Given the description of an element on the screen output the (x, y) to click on. 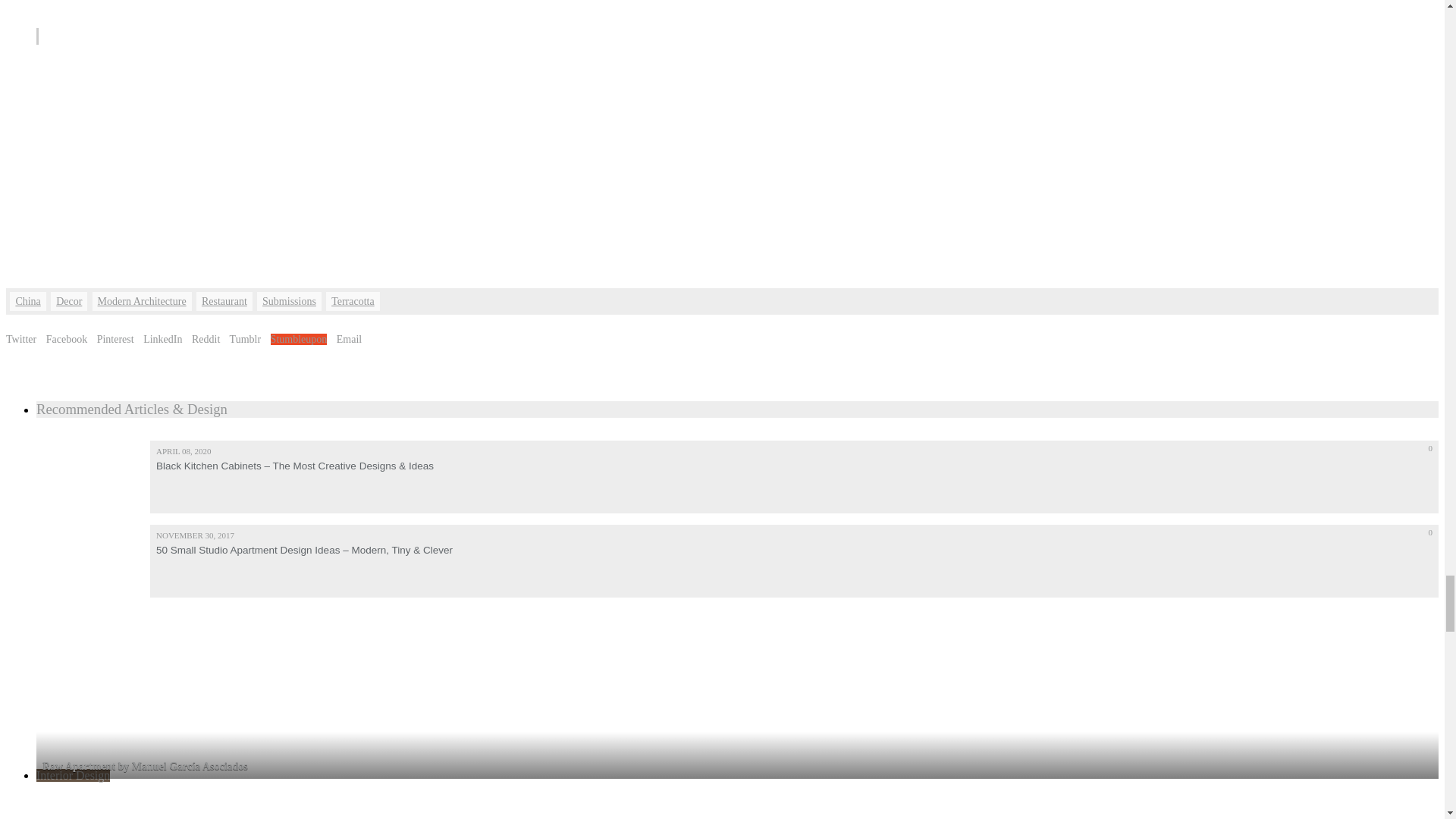
LinkedIn (162, 338)
Restaurant (223, 301)
China (27, 301)
Decor (68, 301)
Twitter (20, 338)
Stumbleupon (298, 338)
Pinterest (115, 338)
Facebook (66, 338)
Submissions (289, 301)
Tumblr (246, 338)
Reddit (205, 338)
Modern Architecture (142, 301)
Terracotta (353, 301)
